Given the description of an element on the screen output the (x, y) to click on. 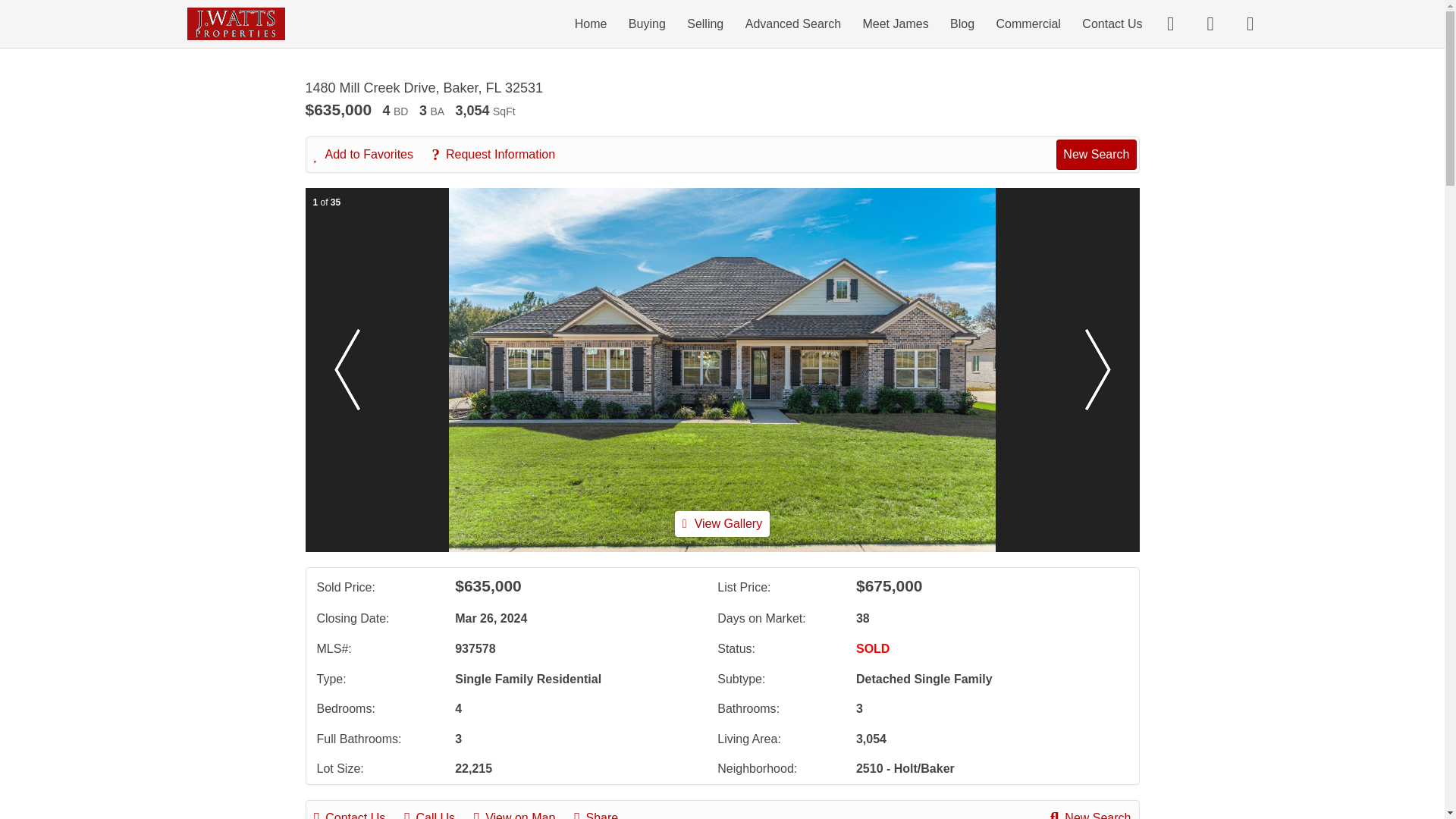
Request Information (500, 154)
View on Map (521, 812)
New Search (1090, 812)
View Gallery (722, 524)
View Gallery (722, 522)
Commercial (1028, 23)
Call Us (437, 812)
Blog (962, 23)
Home (591, 23)
Contact Us (1111, 23)
Contact Us (357, 812)
Buying (646, 23)
Add to Favorites (371, 154)
Meet James (894, 23)
New Search (1096, 154)
